Given the description of an element on the screen output the (x, y) to click on. 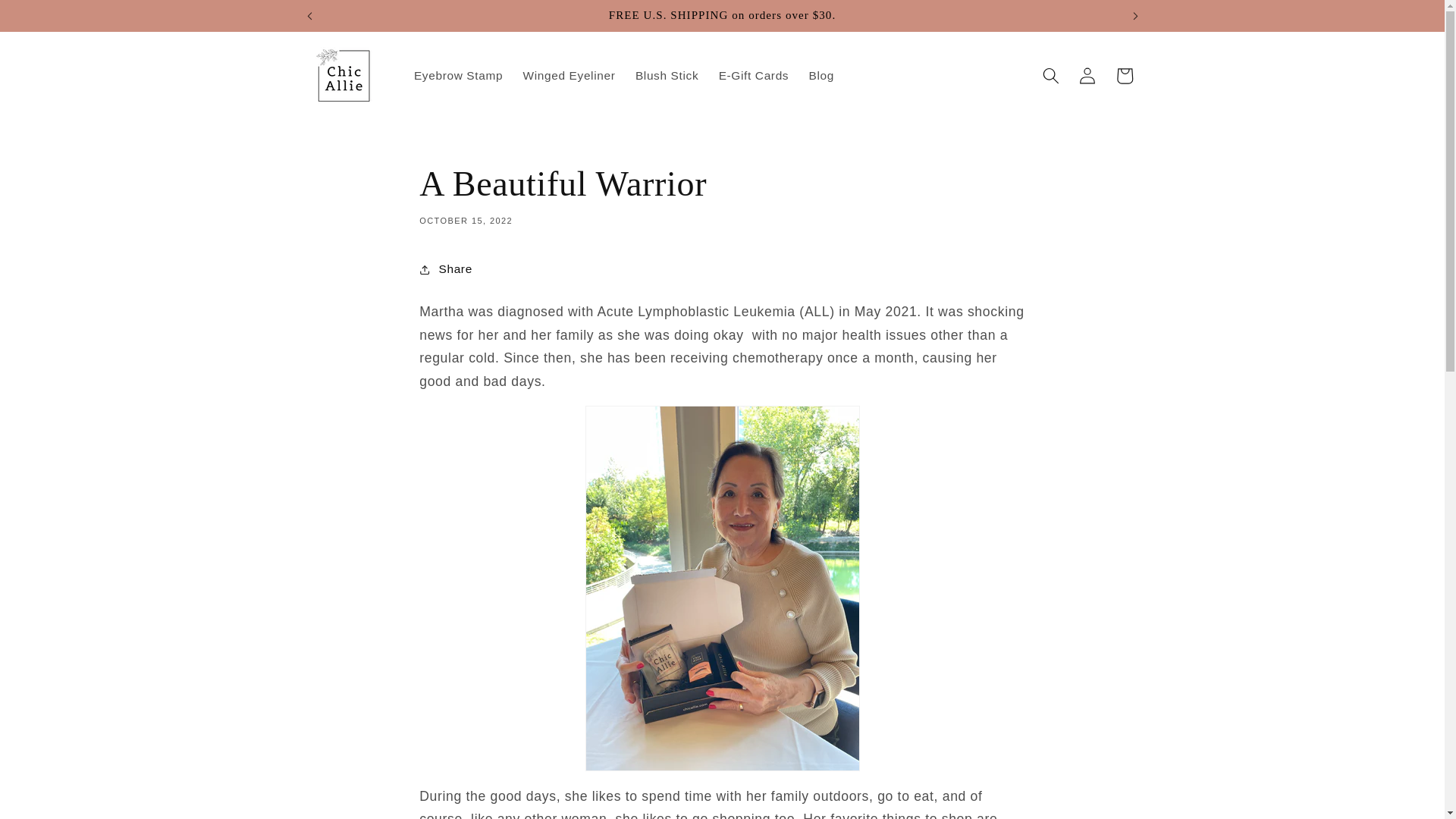
E-Gift Cards (752, 75)
Log in (1086, 75)
Winged Eyeliner (568, 75)
Eyebrow Stamp (458, 75)
Blog (820, 75)
Skip to content (50, 19)
Blush Stick (667, 75)
Cart (1123, 75)
